Given the description of an element on the screen output the (x, y) to click on. 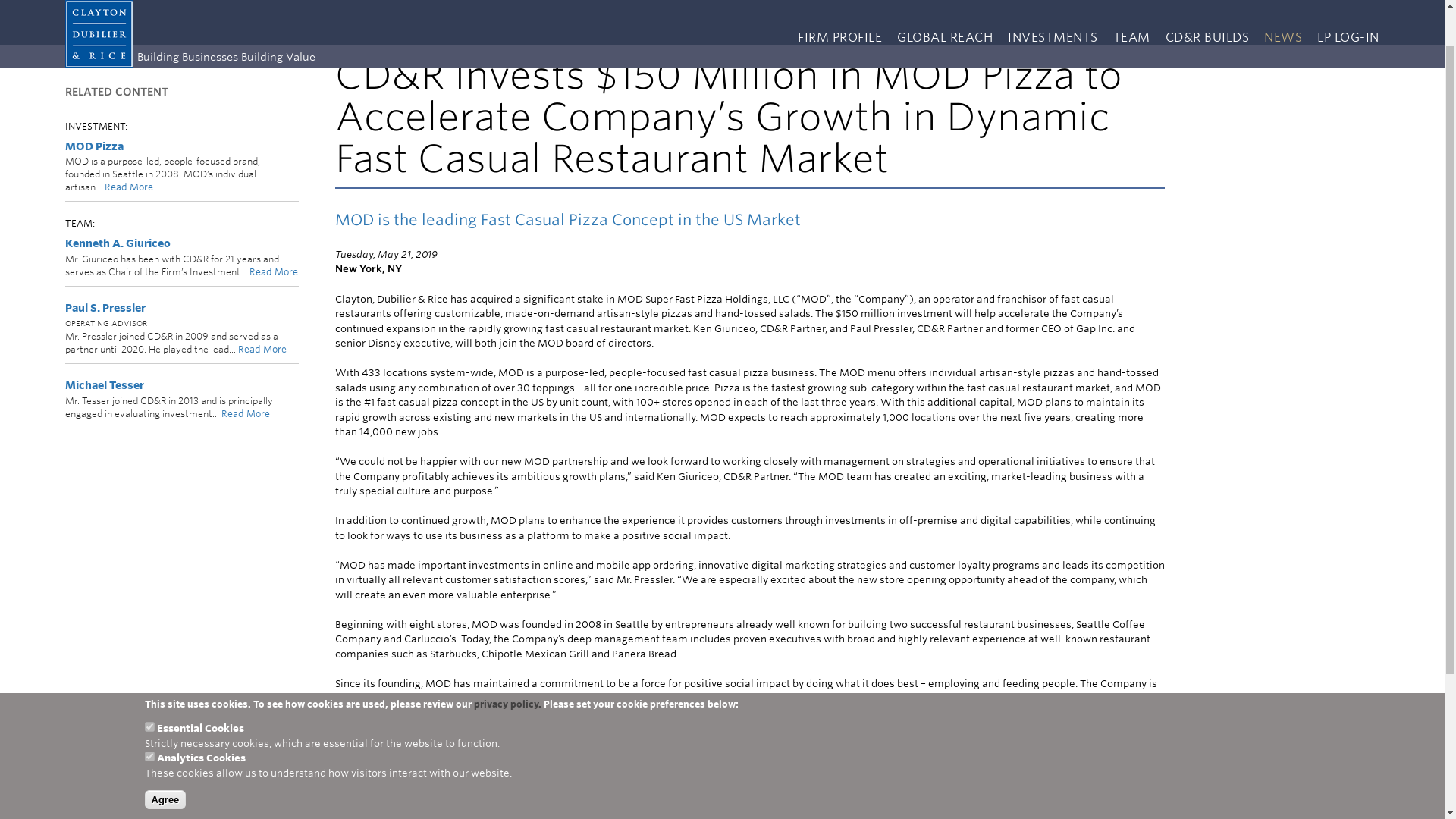
TEAM (1131, 5)
privacy policy. (506, 656)
Agree (165, 752)
INVESTMENTS (1052, 5)
FIRM PROFILE (843, 5)
GLOBAL REACH (944, 5)
